Given the description of an element on the screen output the (x, y) to click on. 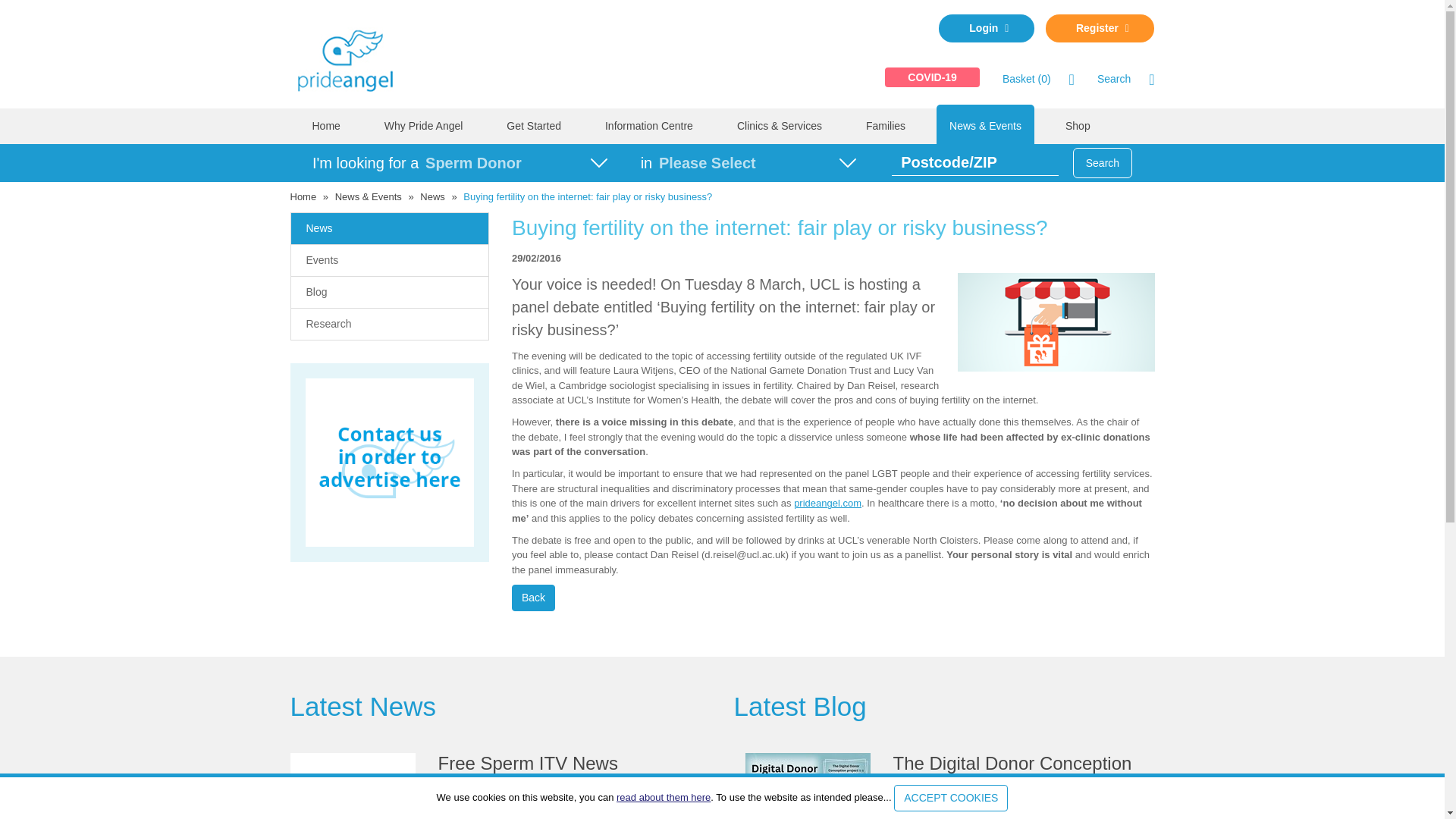
Search (1114, 78)
View all (362, 706)
Pride Angel (351, 57)
Basket (1026, 78)
COVID-19 (932, 76)
Advertise with Pride Angel (389, 462)
Login (986, 28)
View all (799, 706)
Free Sperm ITV News (499, 785)
